Given the description of an element on the screen output the (x, y) to click on. 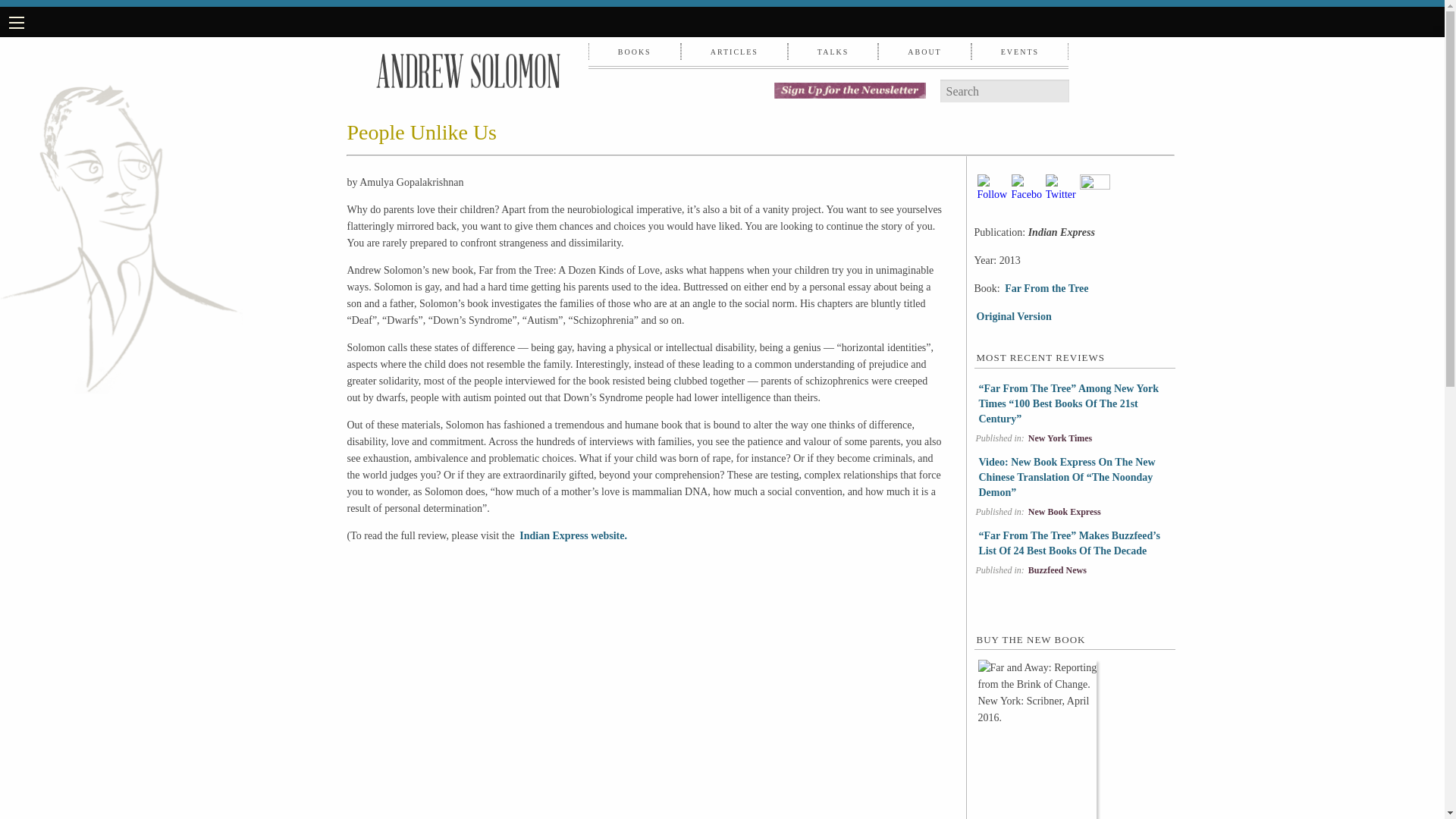
Facebook (1026, 189)
Twitter (1060, 189)
Search (1058, 90)
Follow by Email (991, 189)
